Given the description of an element on the screen output the (x, y) to click on. 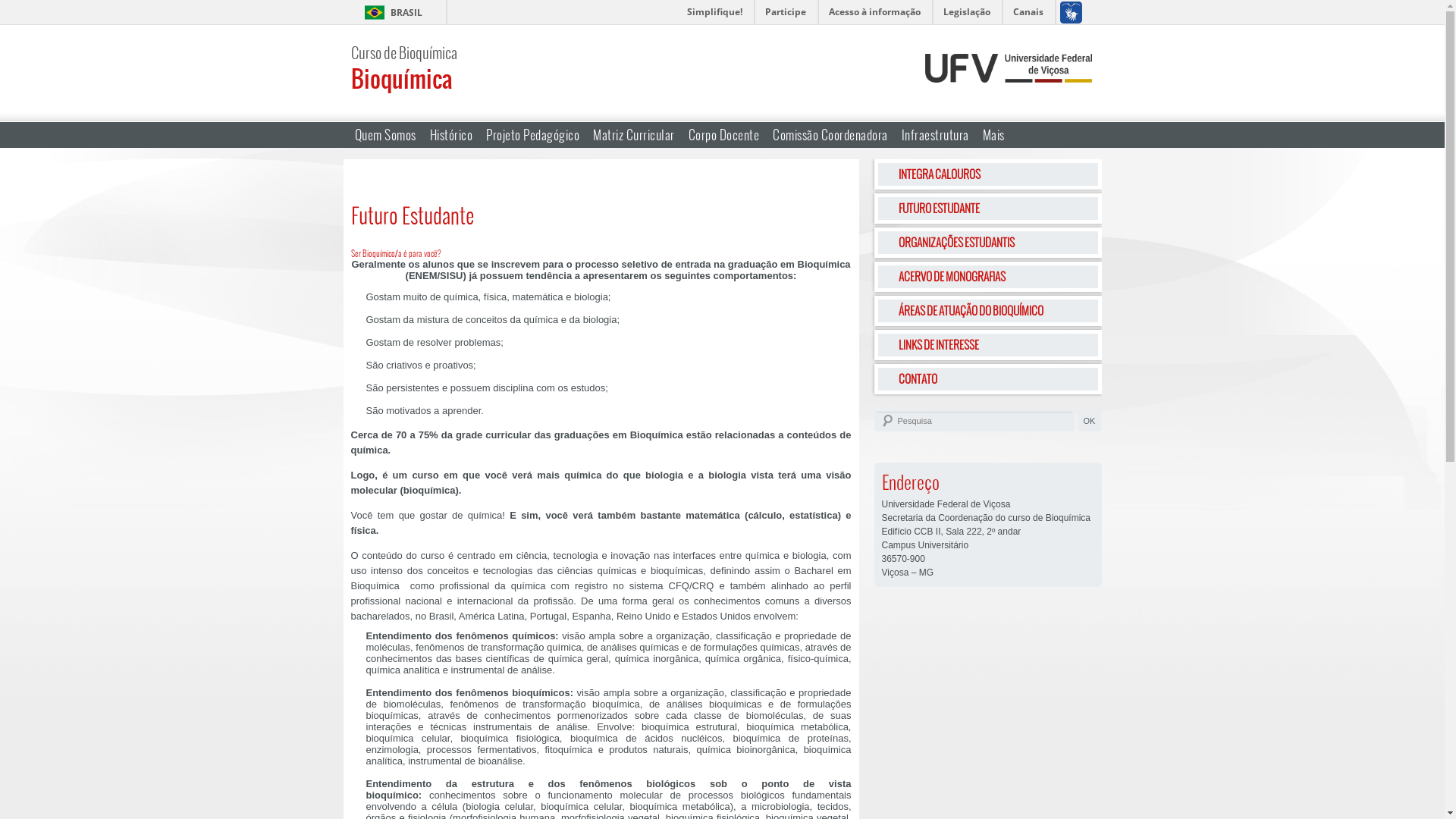
INTEGRA CALOUROS Element type: text (987, 174)
FUTURO ESTUDANTE Element type: text (987, 208)
LINKS DE INTERESSE Element type: text (987, 344)
OK Element type: text (1089, 420)
Corpo Docente Element type: text (723, 134)
Infraestrutura Element type: text (934, 134)
BRASIL Element type: text (389, 12)
Matriz Curricular Element type: text (633, 134)
Quem Somos Element type: text (384, 134)
ACERVO DE MONOGRAFIAS Element type: text (987, 276)
CONTATO Element type: text (987, 379)
Mais Element type: text (992, 134)
